Given the description of an element on the screen output the (x, y) to click on. 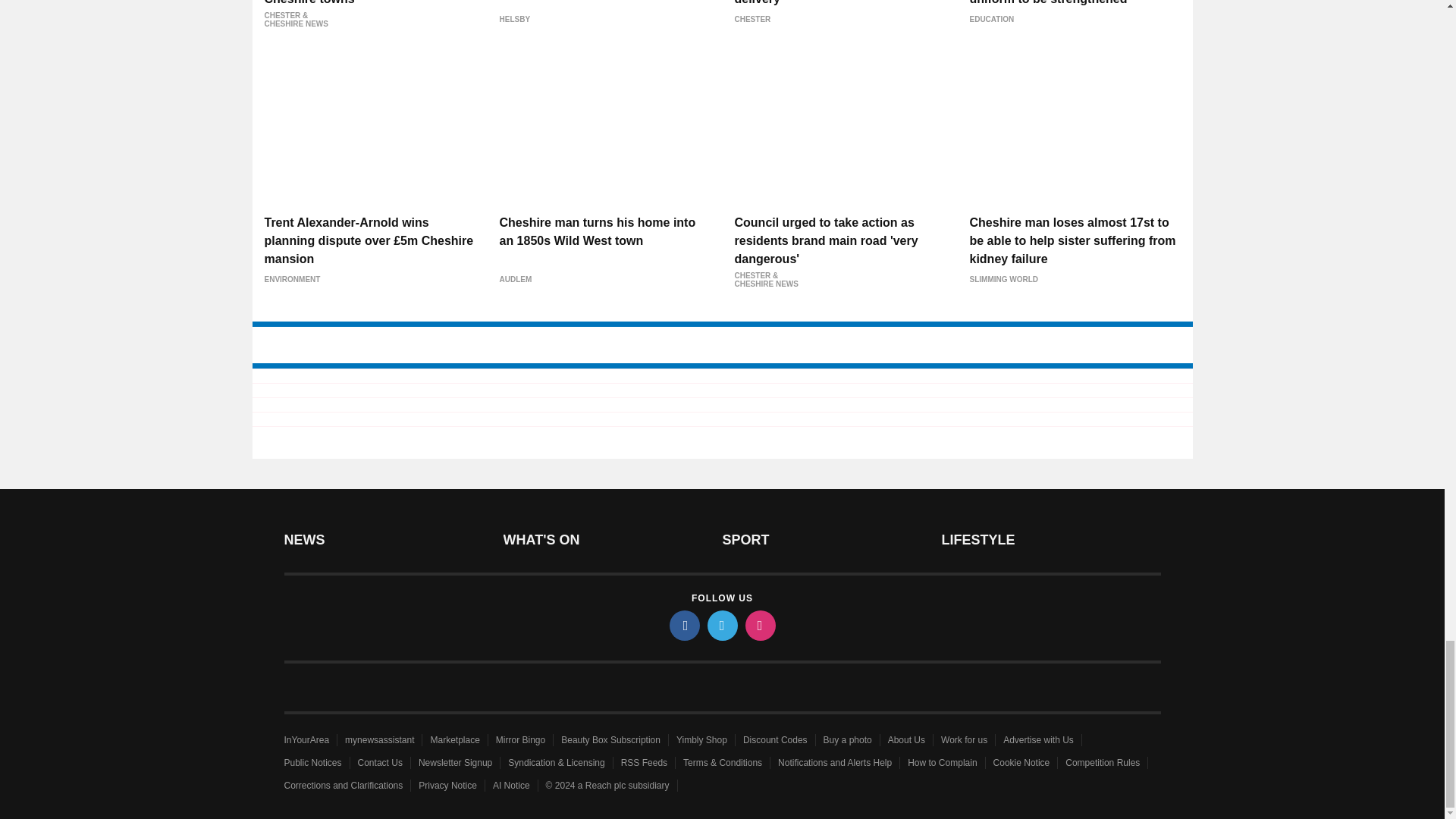
facebook (683, 625)
twitter (721, 625)
instagram (759, 625)
